Given the description of an element on the screen output the (x, y) to click on. 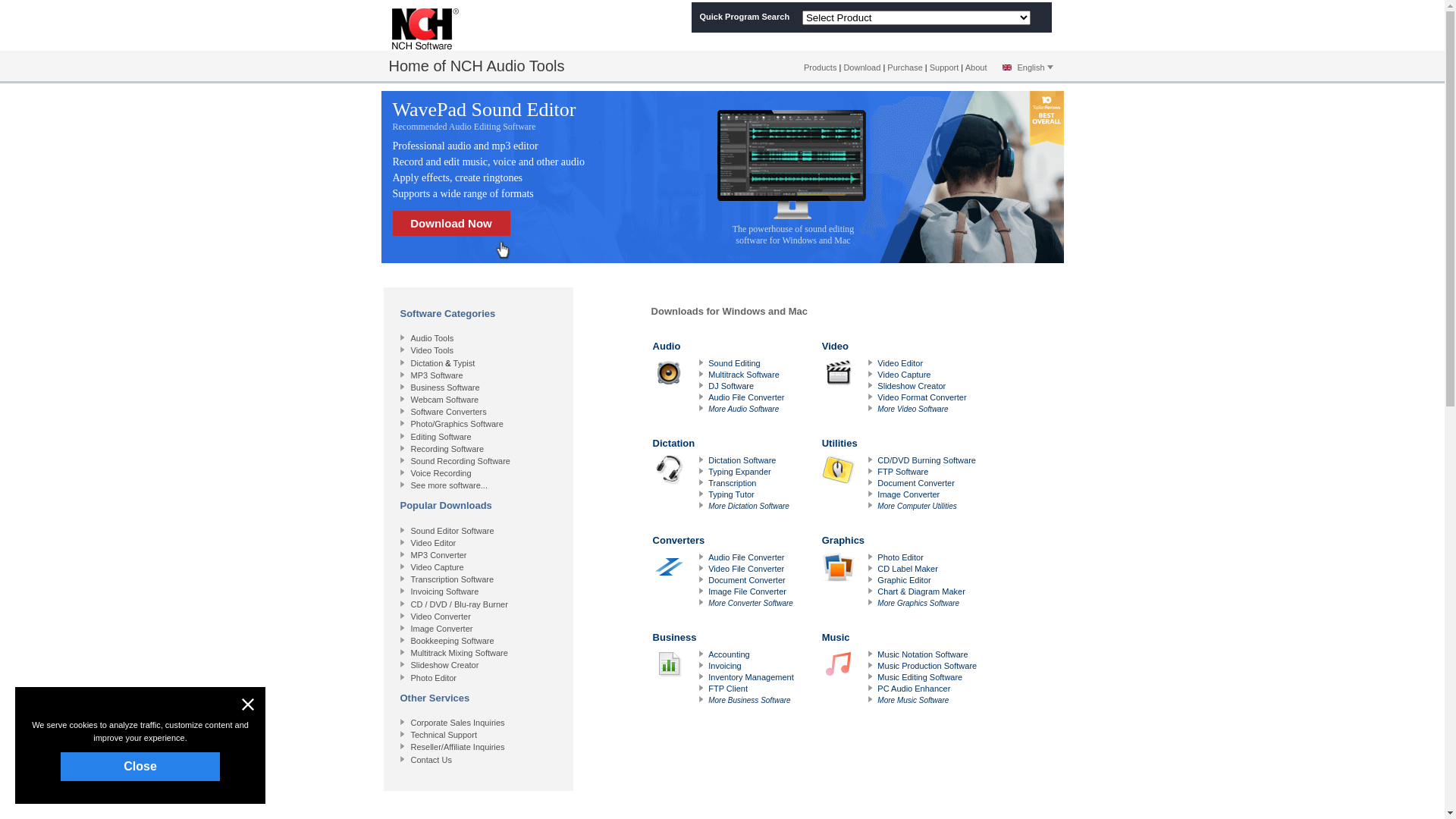
Sound Recording Software Element type: text (460, 460)
Bookkeeping Software Element type: text (452, 640)
Video Capture Element type: text (903, 374)
Transcription Element type: text (732, 482)
Accounting Element type: text (728, 653)
Video Element type: text (901, 376)
Software Converters Element type: text (448, 411)
Chart & Diagram Maker Element type: text (921, 591)
More Music Software Element type: text (912, 700)
Image File Converter Element type: text (747, 591)
Image Converter Element type: text (908, 493)
Video Editor Element type: text (433, 542)
More Business Software Element type: text (749, 700)
Recording Software Element type: text (447, 448)
Video Tools Element type: text (432, 349)
Converters Element type: text (724, 570)
Photo Editor Element type: text (434, 677)
Graphic Editor Element type: text (903, 579)
Contact Us Element type: text (431, 759)
Technical Support Element type: text (443, 734)
Click to get WavePad Audio Editor Element type: hover (759, 177)
Editing Software Element type: text (441, 436)
Document Converter Element type: text (746, 579)
Audio Tools Element type: text (432, 337)
Utilities Element type: text (901, 473)
Dictation Element type: text (724, 473)
More Video Software Element type: text (912, 408)
Download Now Element type: text (451, 222)
MP3 Software Element type: text (437, 374)
English Element type: text (1025, 67)
Audio File Converter Element type: text (746, 396)
Business Element type: text (724, 667)
Dictation Element type: text (427, 362)
CD/DVD Burning Software Element type: text (926, 459)
Video Converter Element type: text (440, 616)
FTP Software Element type: text (902, 471)
Photo Editor Element type: text (900, 556)
Multitrack Software Element type: text (743, 374)
Products Element type: text (819, 67)
About Element type: text (976, 67)
Music Element type: text (901, 667)
Image Converter Element type: text (442, 628)
Business Software Element type: text (445, 387)
More Audio Software Element type: text (743, 408)
Invoicing Element type: text (724, 665)
Audio File Converter Element type: text (746, 556)
More Dictation Software Element type: text (748, 506)
FTP Client Element type: text (727, 688)
Slideshow Creator Element type: text (445, 664)
Audio Element type: text (724, 376)
PC Audio Enhancer Element type: text (913, 688)
Document Converter Element type: text (915, 482)
Typing Expander Element type: text (739, 471)
More Graphics Software Element type: text (918, 603)
Reseller/Affiliate Inquiries Element type: text (458, 746)
Video Format Converter Element type: text (921, 396)
Sound Editor Software Element type: text (452, 530)
Close Element type: text (139, 766)
Typist Element type: text (464, 362)
Transcription Software Element type: text (452, 578)
WavePad Sound Editor
Recommended Audio Editing Software Element type: text (506, 115)
See more software... Element type: text (449, 484)
Video Editor Element type: text (899, 362)
Slideshow Creator Element type: text (911, 385)
More Computer Utilities Element type: text (916, 506)
Music Production Software Element type: text (926, 665)
DJ Software Element type: text (730, 385)
Download Element type: text (861, 67)
Music Editing Software Element type: text (919, 676)
Purchase Element type: text (904, 67)
Graphics Element type: text (901, 570)
Support Element type: text (944, 67)
CD Label Maker Element type: text (907, 568)
More Converter Software Element type: text (750, 603)
Corporate Sales Inquiries Element type: text (458, 722)
Voice Recording Element type: text (441, 472)
Dictation Software Element type: text (741, 459)
Multitrack Mixing Software Element type: text (459, 652)
Music Notation Software Element type: text (922, 653)
Webcam Software Element type: text (445, 399)
Sound Editing Element type: text (734, 362)
Video Capture Element type: text (437, 566)
Inventory Management Element type: text (750, 676)
Invoicing Software Element type: text (445, 591)
Video File Converter Element type: text (746, 568)
CD / DVD / Blu-ray Burner Element type: text (459, 603)
MP3 Converter Element type: text (439, 554)
Typing Tutor Element type: text (731, 493)
Photo/Graphics Software Element type: text (457, 423)
